Given the description of an element on the screen output the (x, y) to click on. 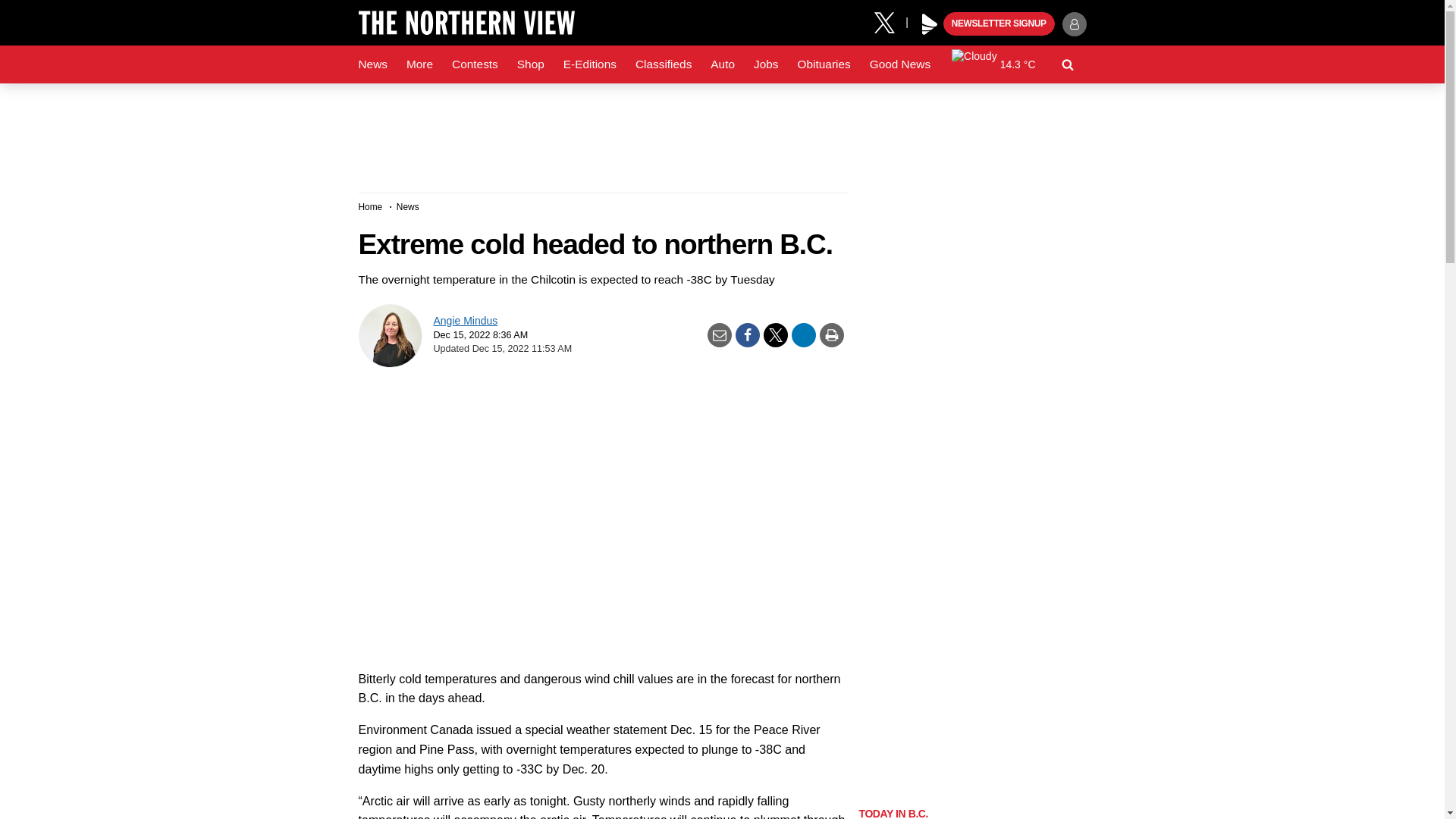
Black Press Media (929, 24)
News (372, 64)
X (889, 21)
NEWSLETTER SIGNUP (998, 24)
Play (929, 24)
